Given the description of an element on the screen output the (x, y) to click on. 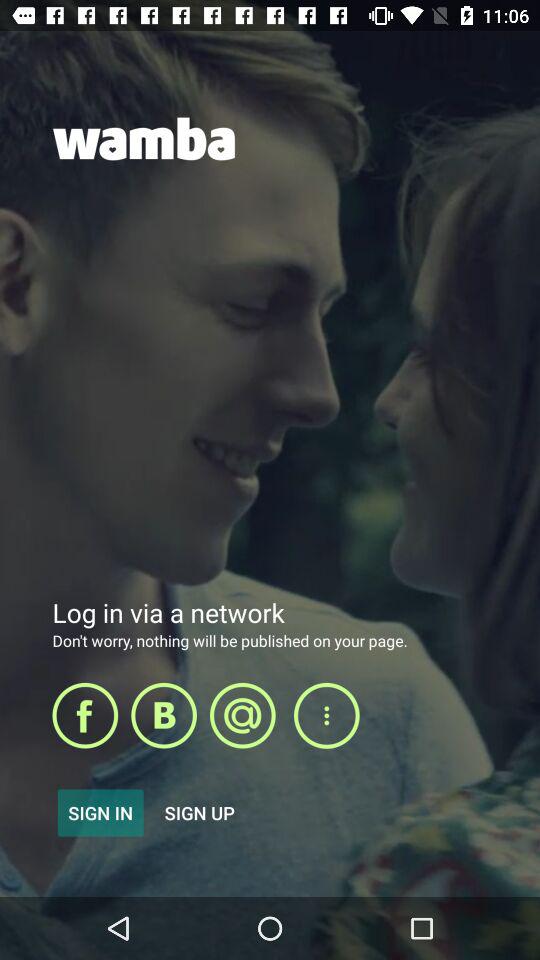
click to bing (163, 715)
